Given the description of an element on the screen output the (x, y) to click on. 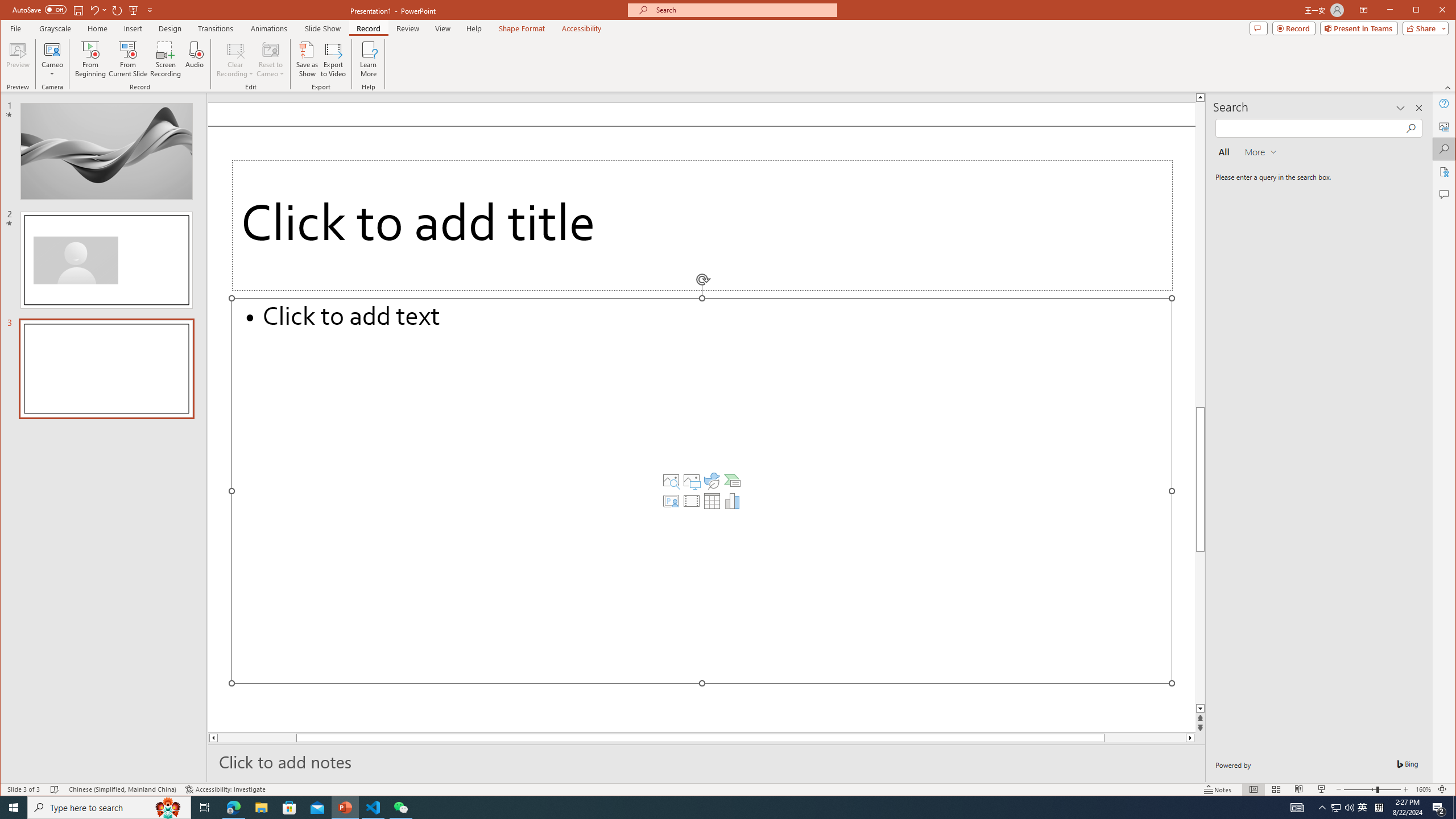
View (443, 28)
Action Center, 2 new notifications (1439, 807)
AutoSave (38, 9)
Save as Show (307, 59)
Normal (1253, 789)
Minimize (1419, 11)
Slide (106, 368)
Zoom In (1405, 789)
Grayscale (55, 28)
Page up (1200, 302)
Shape Format (521, 28)
Collapse the Ribbon (1448, 87)
Close (1444, 11)
